Given the description of an element on the screen output the (x, y) to click on. 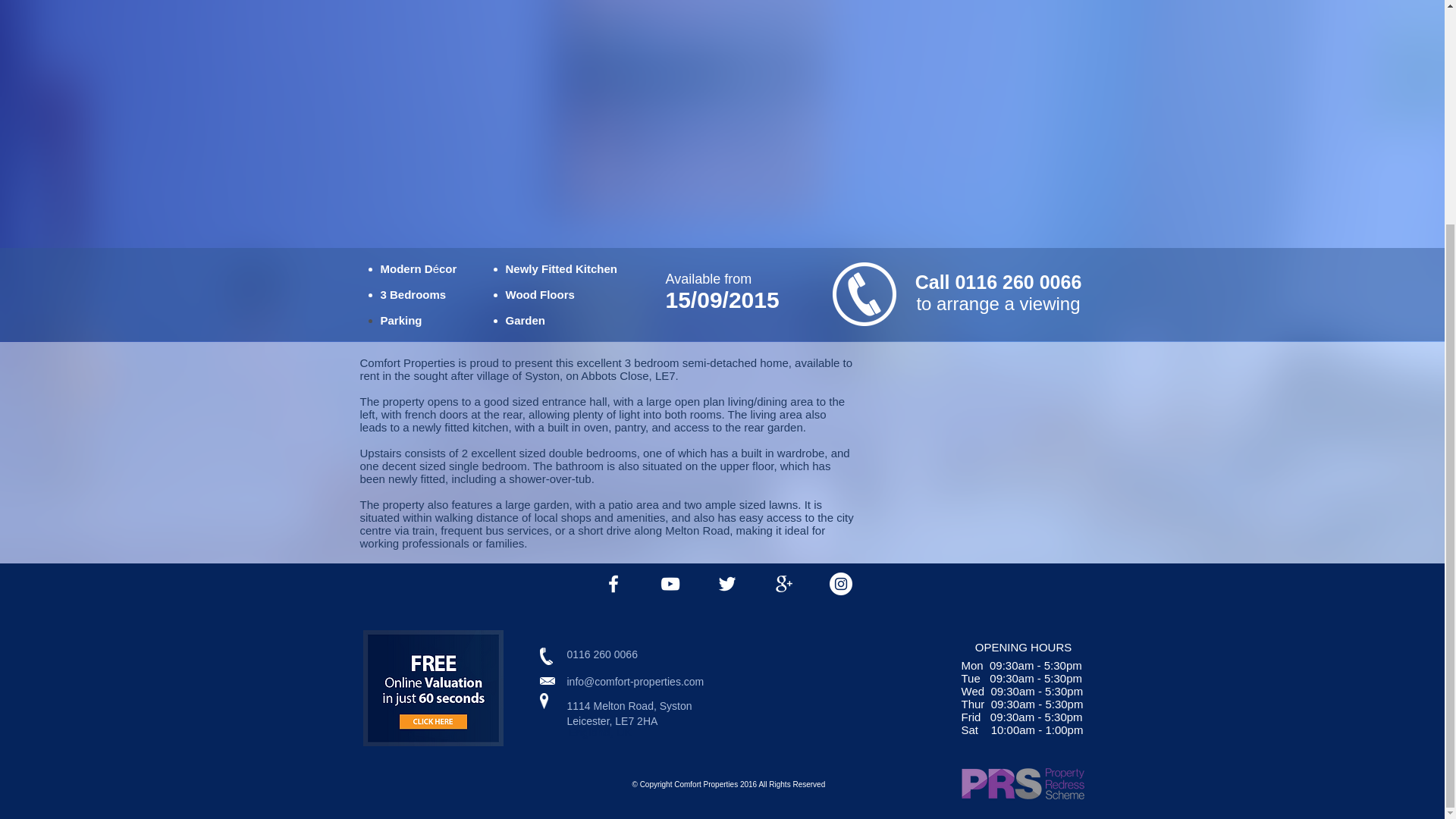
1114 Melton Road, Syston (680, 706)
